Given the description of an element on the screen output the (x, y) to click on. 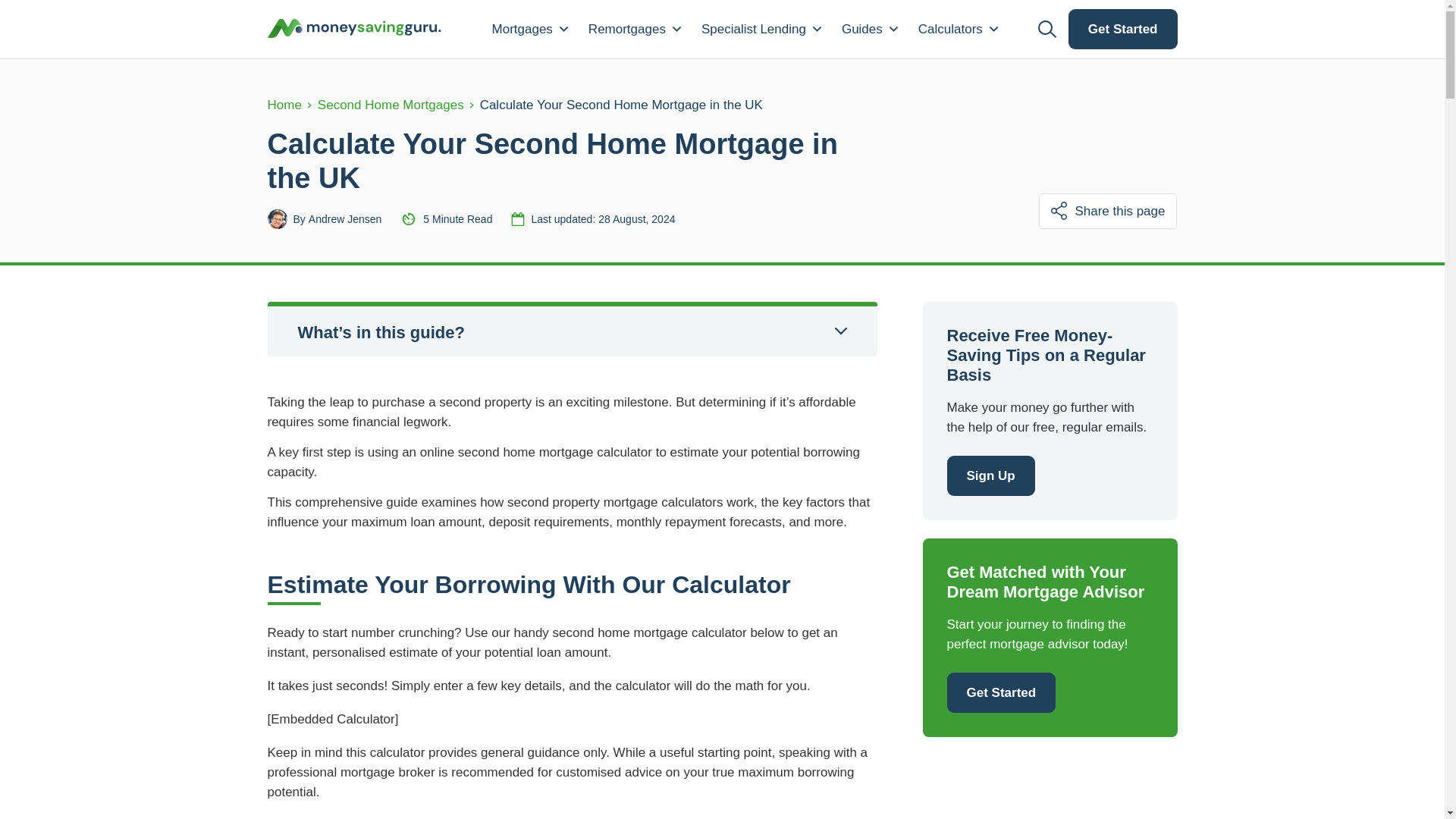
Specialist Lending (762, 28)
Remortgages (636, 28)
Mortgages (531, 28)
